Given the description of an element on the screen output the (x, y) to click on. 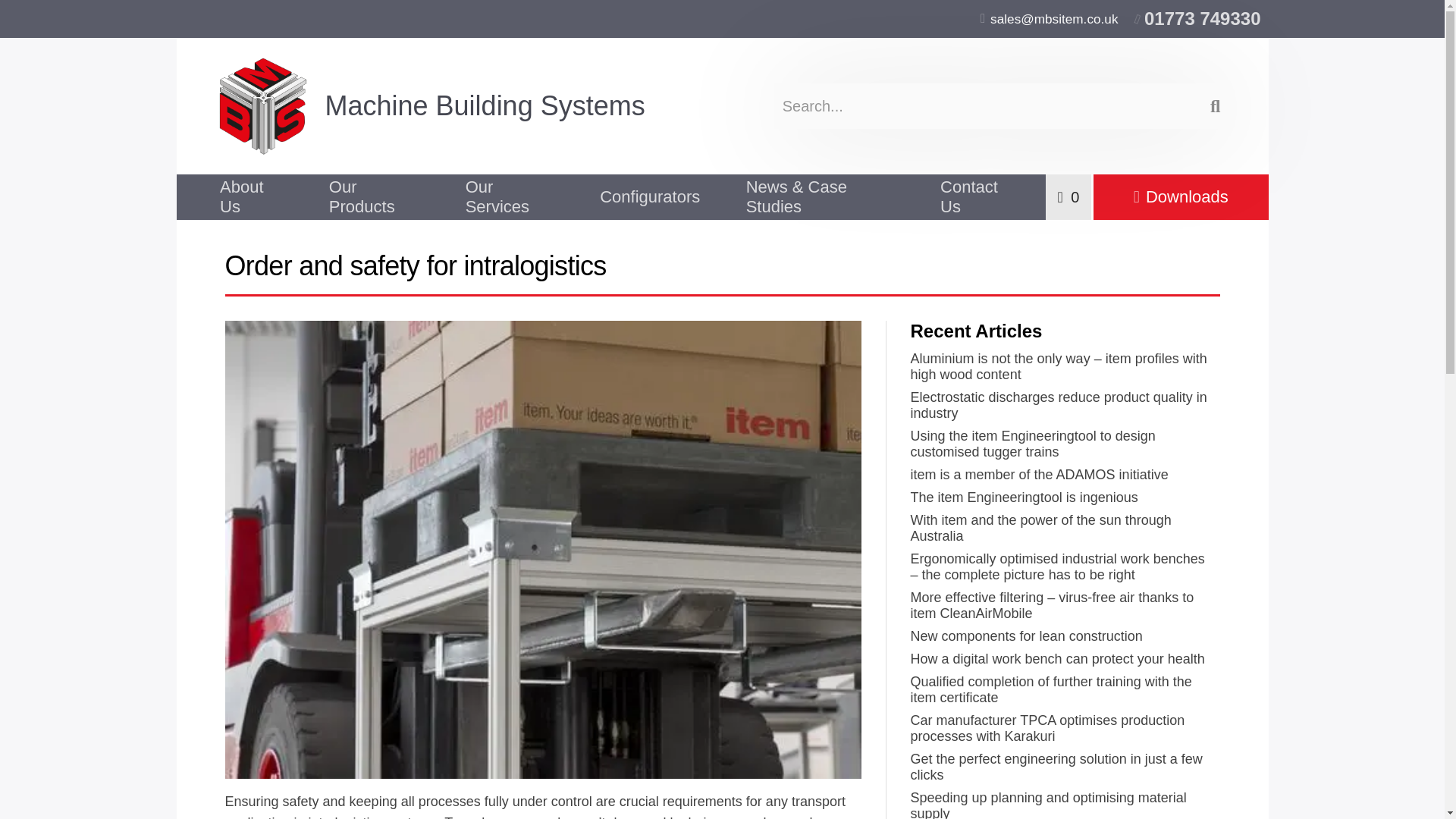
Our Products (374, 197)
About Us (250, 197)
Machine Building Systems (467, 106)
01773 749330 (1197, 18)
